Given the description of an element on the screen output the (x, y) to click on. 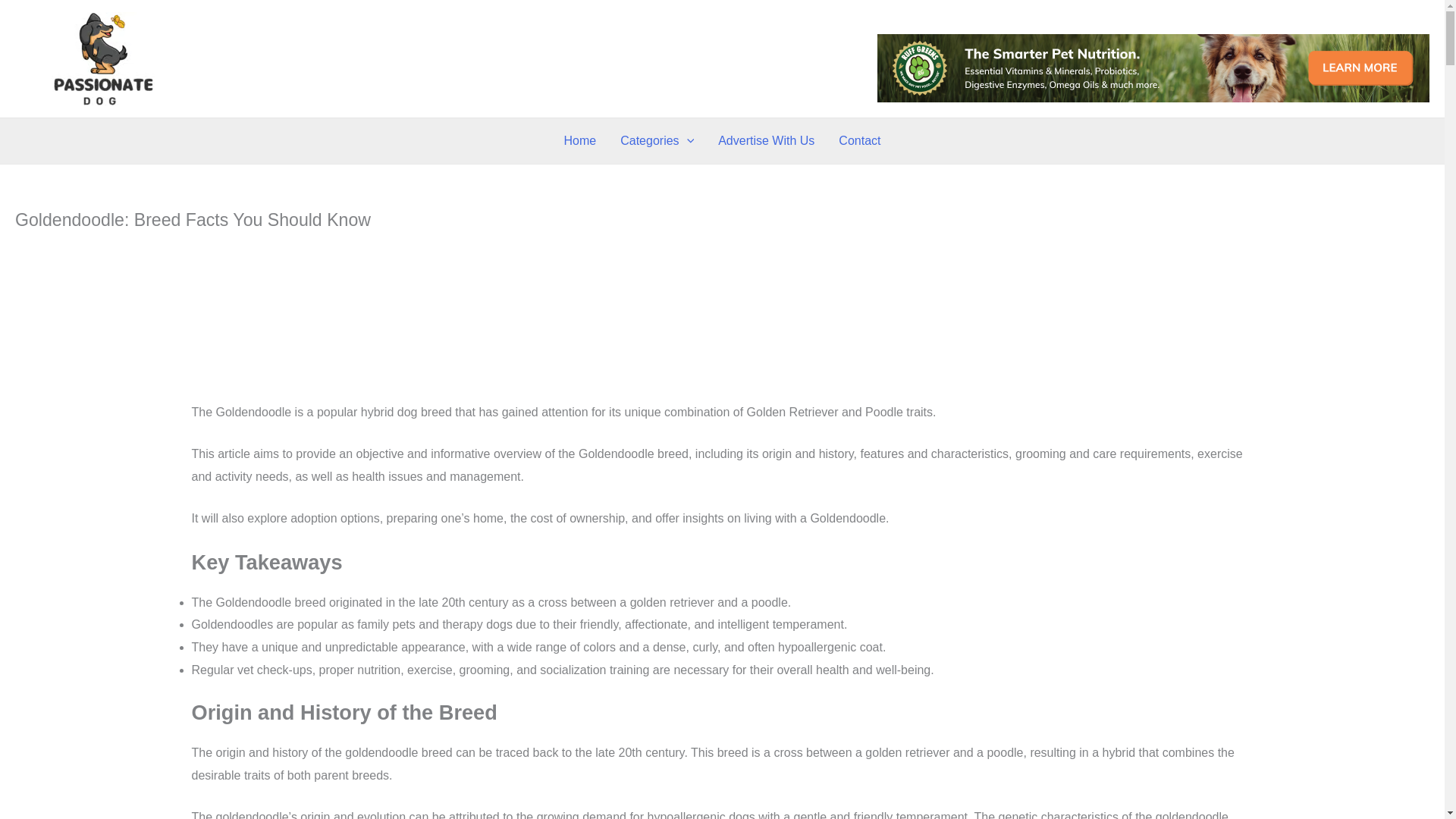
Home (579, 140)
Advertise With Us (766, 140)
Contact (859, 140)
Categories (657, 140)
